Given the description of an element on the screen output the (x, y) to click on. 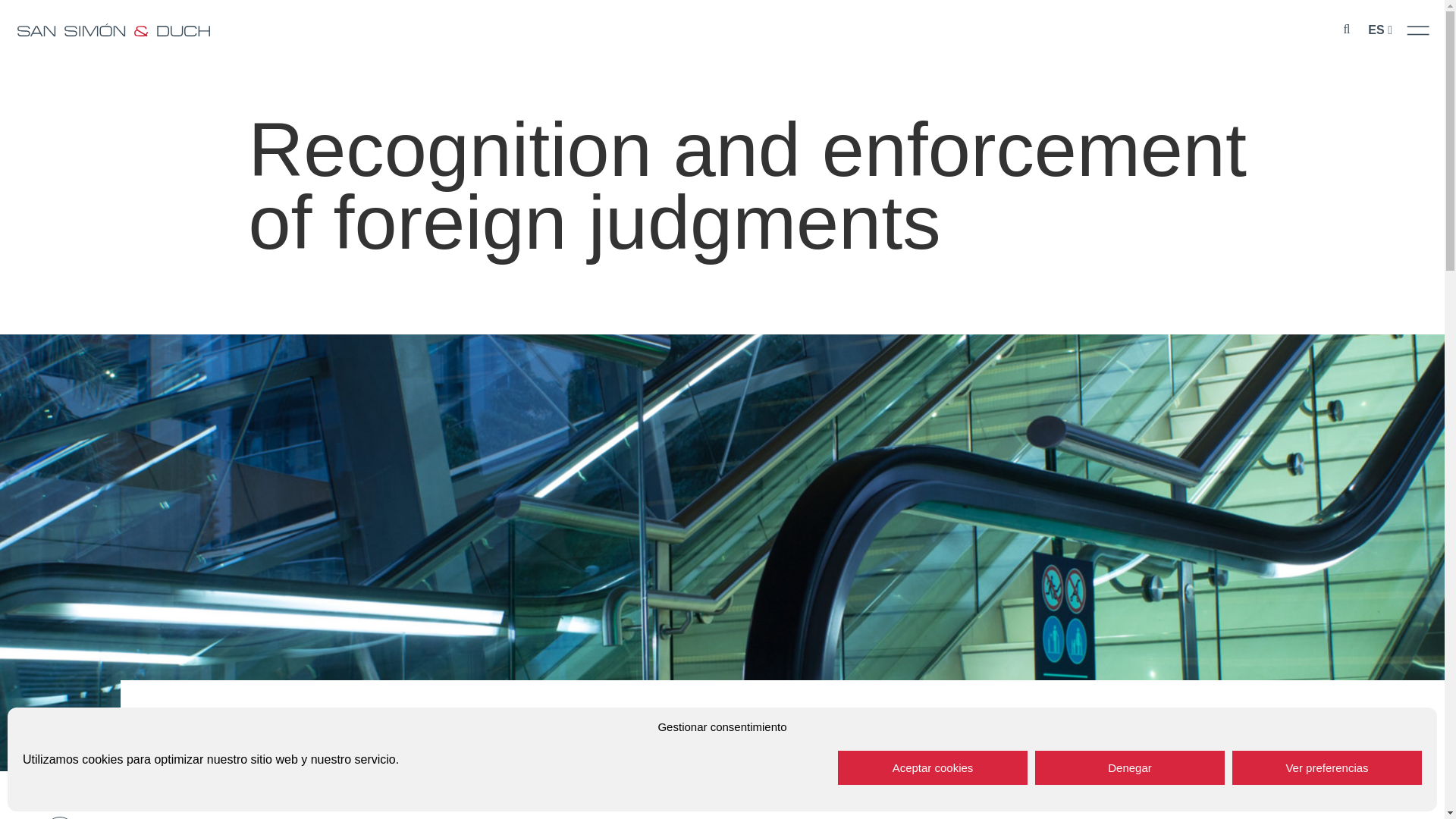
Denegar (1129, 767)
Ver preferencias (1326, 767)
Aceptar cookies (932, 767)
